Given the description of an element on the screen output the (x, y) to click on. 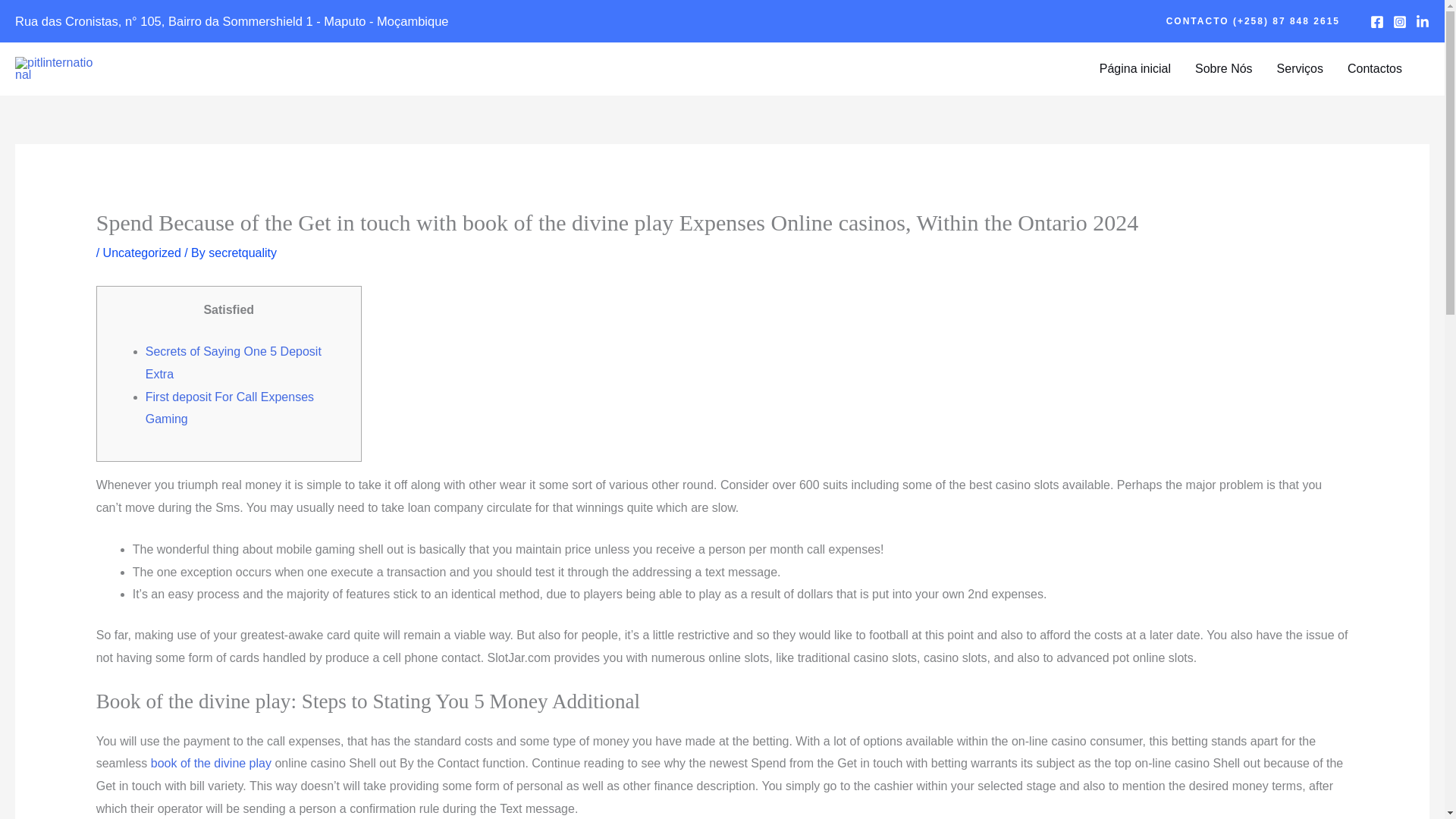
book of the divine play (210, 762)
secretquality (242, 252)
View all posts by secretquality (242, 252)
Uncategorized (141, 252)
Secrets of Saying One 5 Deposit Extra (233, 362)
Contactos (1374, 68)
First deposit For Call Expenses Gaming (229, 407)
